Given the description of an element on the screen output the (x, y) to click on. 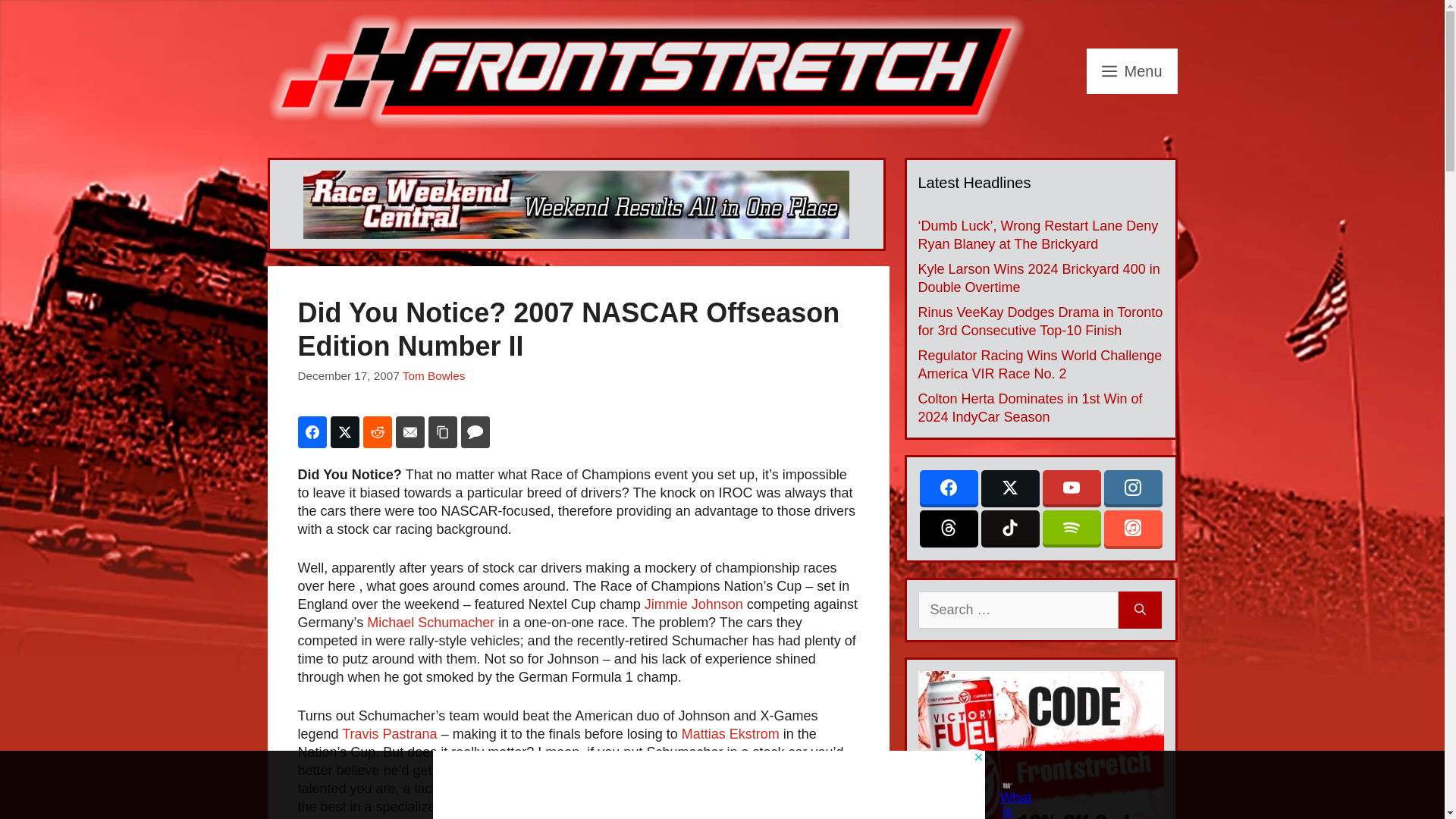
Michael Schumacher (430, 622)
Jimmie Johnson (693, 604)
Travis Pastrana (389, 734)
Share on Facebook (311, 431)
Mattias Ekstrom (729, 734)
Menu (1131, 71)
Search for: (1017, 609)
Tom Bowles (433, 375)
Share on Email (410, 431)
Share on Reddit (376, 431)
Share on Twitter (344, 431)
Share on Comments (475, 431)
Share on Copy Link (442, 431)
